Given the description of an element on the screen output the (x, y) to click on. 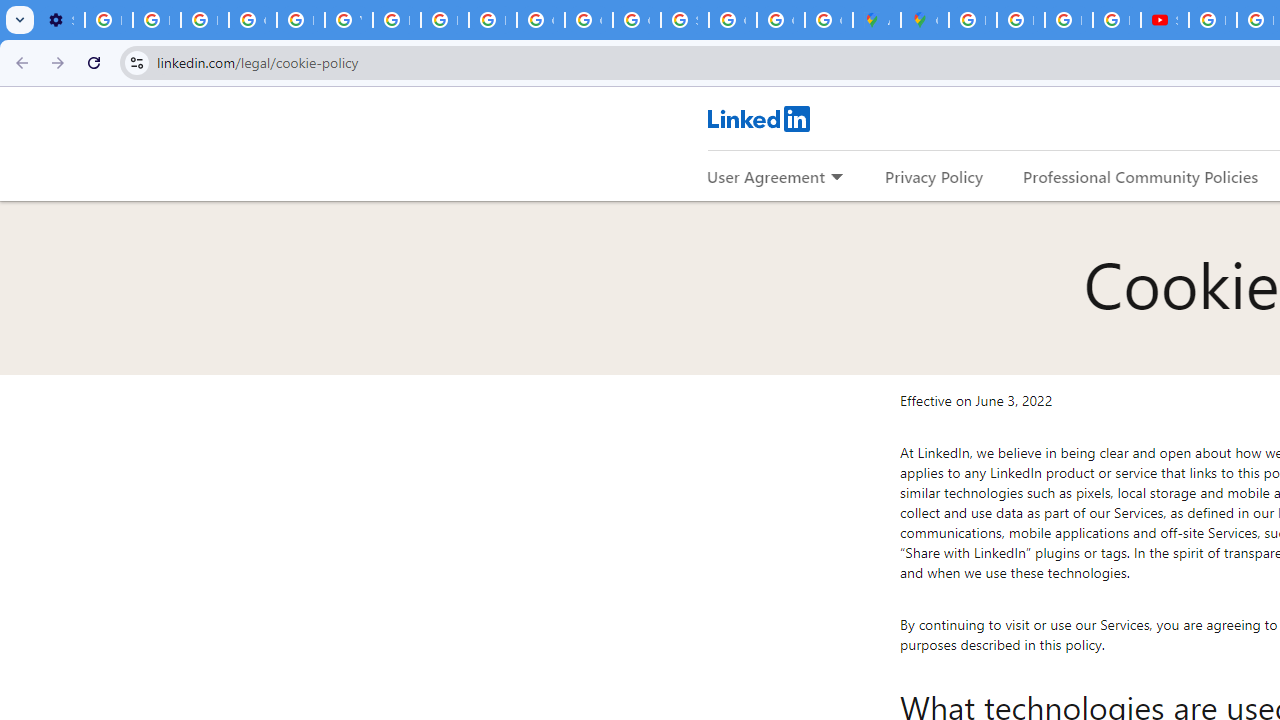
System (10, 11)
Blogger Policies and Guidelines - Transparency Center (972, 20)
YouTube (348, 20)
Professional Community Policies (1140, 176)
User Agreement (765, 176)
LinkedIn Logo (758, 118)
View site information (136, 62)
Learn how to find your photos - Google Photos Help (156, 20)
Privacy Help Center - Policies Help (1068, 20)
Subscriptions - YouTube (1164, 20)
